Given the description of an element on the screen output the (x, y) to click on. 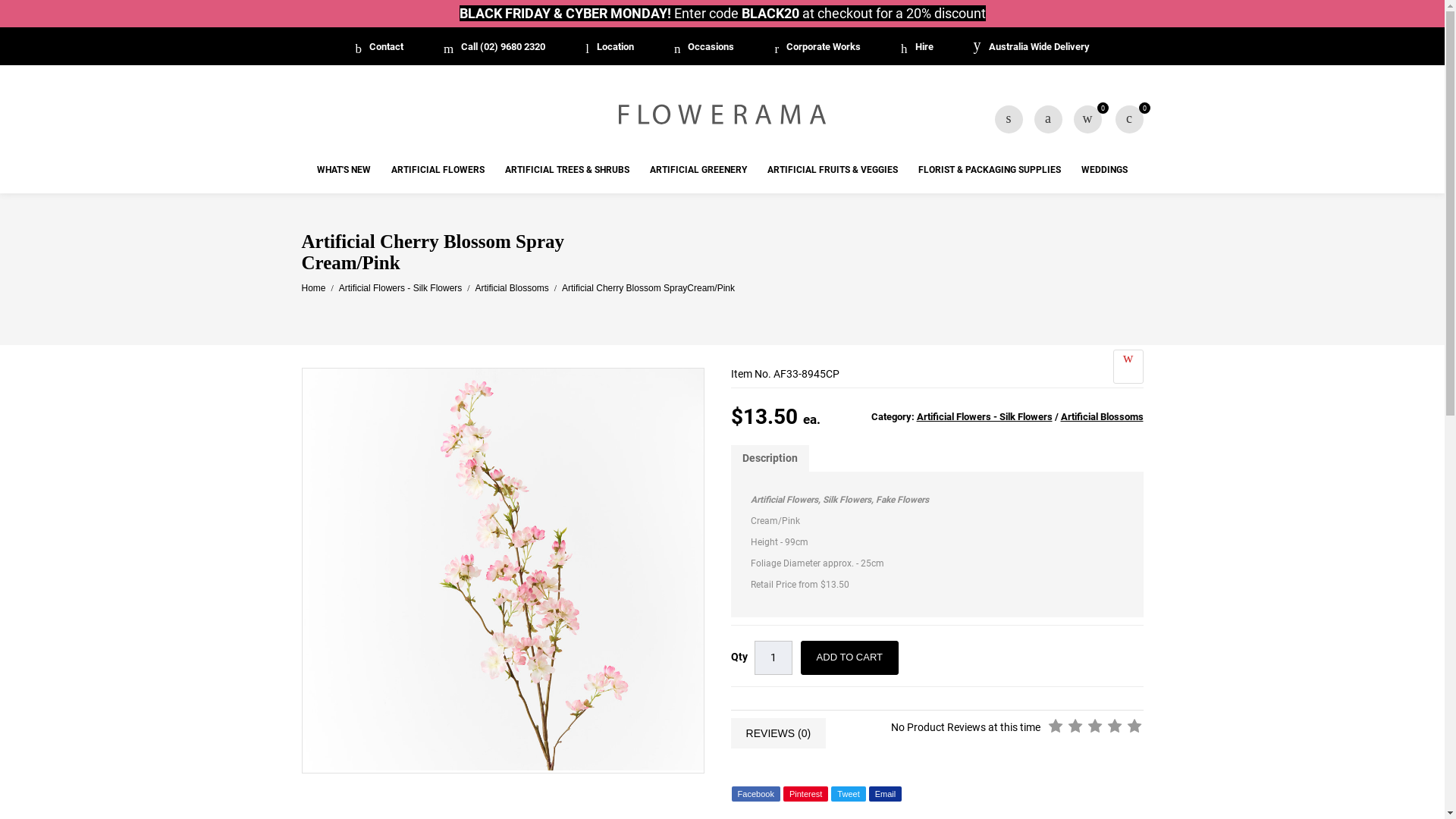
WEDDINGS Element type: text (1104, 171)
Facebook Element type: text (755, 793)
Artificial Blossoms Element type: text (511, 287)
Australia Wide Delivery Element type: text (1031, 46)
Email Element type: text (885, 793)
ARTIFICIAL FLOWERS Element type: text (437, 171)
0 Element type: text (1087, 119)
ARTIFICIAL GREENERY Element type: text (698, 171)
Tweet Element type: text (848, 793)
Contact Element type: text (378, 46)
Pinterest Element type: text (805, 793)
Artificial Cherry Blossom SprayCream/Pink Element type: text (647, 287)
Occasions Element type: text (704, 46)
Sign In Element type: hover (1048, 119)
ARTIFICIAL TREES & SHRUBS Element type: text (566, 171)
Call (02) 9680 2320 Element type: text (494, 46)
Location Element type: text (609, 46)
Corporate Works Element type: text (817, 46)
WHAT'S NEW Element type: text (343, 171)
Home Element type: text (313, 287)
Artificial Flowers - Silk Flowers Element type: text (400, 287)
Hire Element type: text (916, 46)
0 Element type: text (1128, 119)
ARTIFICIAL FRUITS & VEGGIES Element type: text (832, 171)
FLORIST & PACKAGING SUPPLIES Element type: text (989, 171)
Artificial Flowers - Silk Flowers Element type: text (983, 416)
Search Element type: hover (1008, 119)
Artificial Blossoms Element type: text (1101, 416)
